Given the description of an element on the screen output the (x, y) to click on. 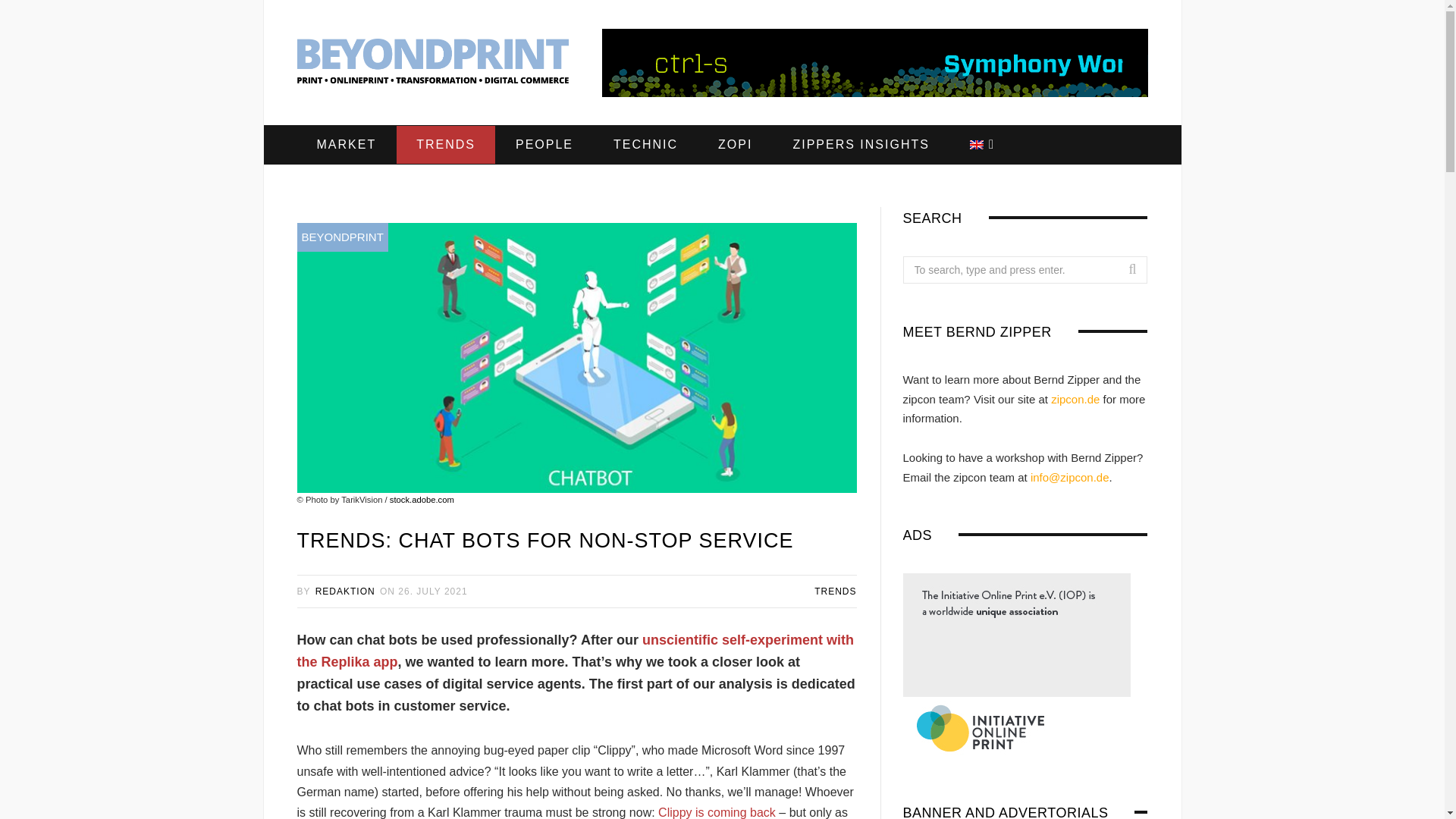
ZOPI (734, 144)
ZIPPERS INSIGHTS (861, 144)
Clippy is coming back (717, 812)
TRENDS (445, 144)
PEOPLE (544, 144)
unscientific self-experiment with the Replika app (575, 650)
REDAKTION (345, 591)
Posts by Redaktion (345, 591)
stock.adobe.com (422, 499)
TECHNIC (645, 144)
TRENDS (834, 591)
MARKET (346, 144)
beyond-print.de (433, 63)
